Given the description of an element on the screen output the (x, y) to click on. 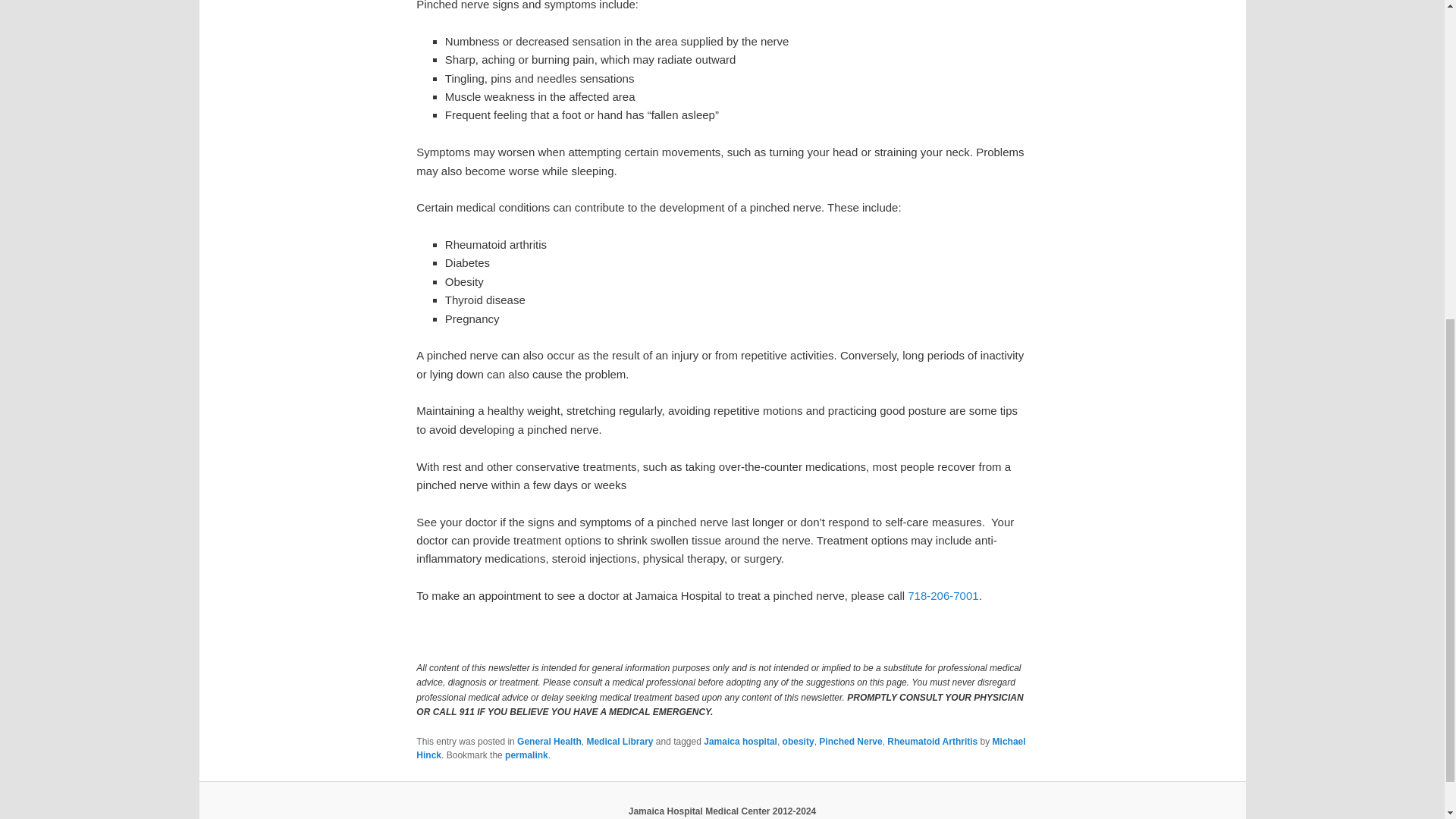
Rheumatoid Arthritis (931, 741)
Jamaica hospital (740, 741)
Jamaica Hospital Medical Center 2012-2024 (721, 810)
Michael Hinck (720, 748)
General Health (548, 741)
Pinched Nerve (850, 741)
obesity (798, 741)
Permalink to What Are the Symptoms Of A Pinched Nerve? (526, 755)
permalink (526, 755)
718-206-7001 (942, 594)
